Given the description of an element on the screen output the (x, y) to click on. 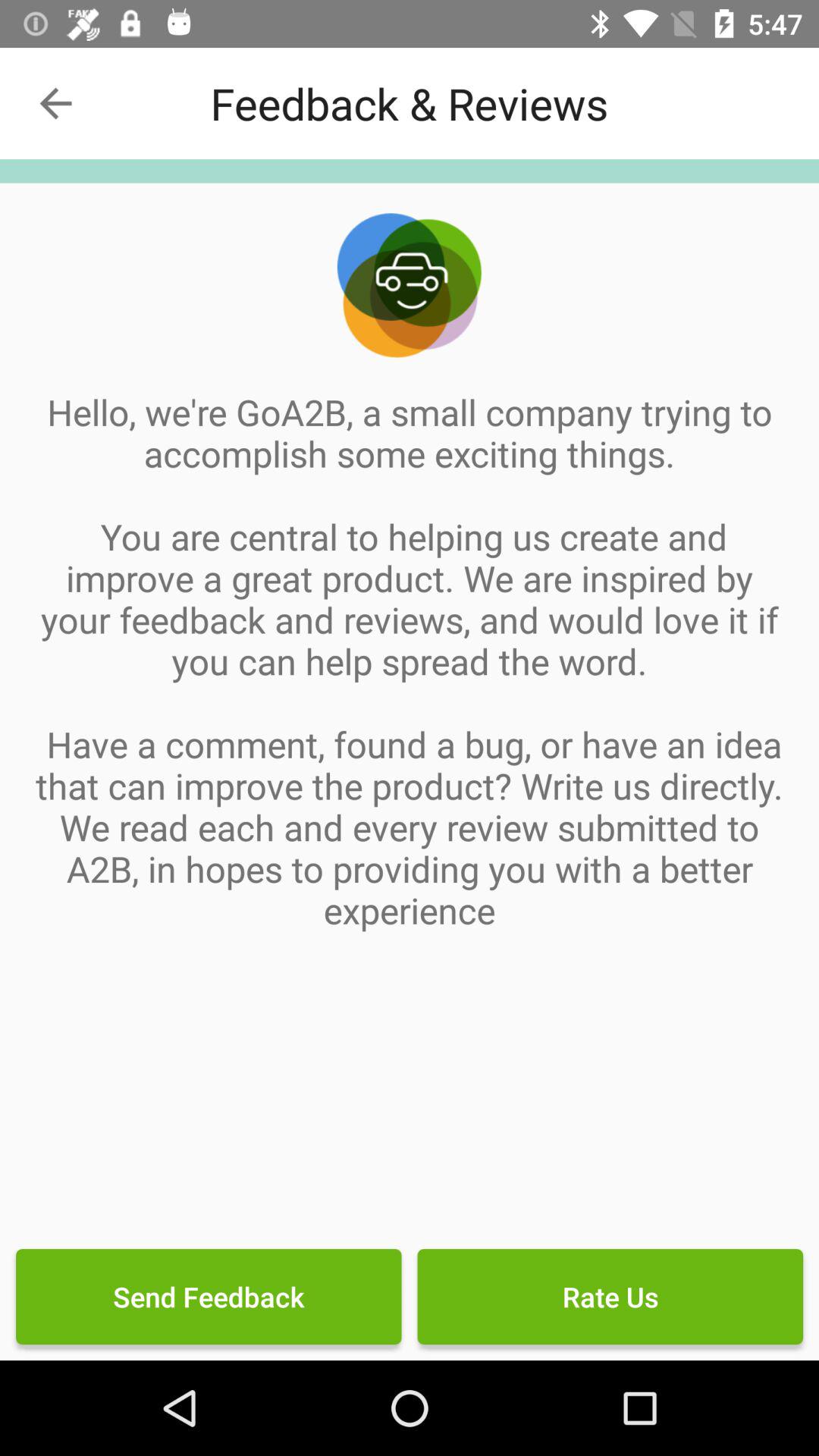
flip until the rate us icon (610, 1296)
